Given the description of an element on the screen output the (x, y) to click on. 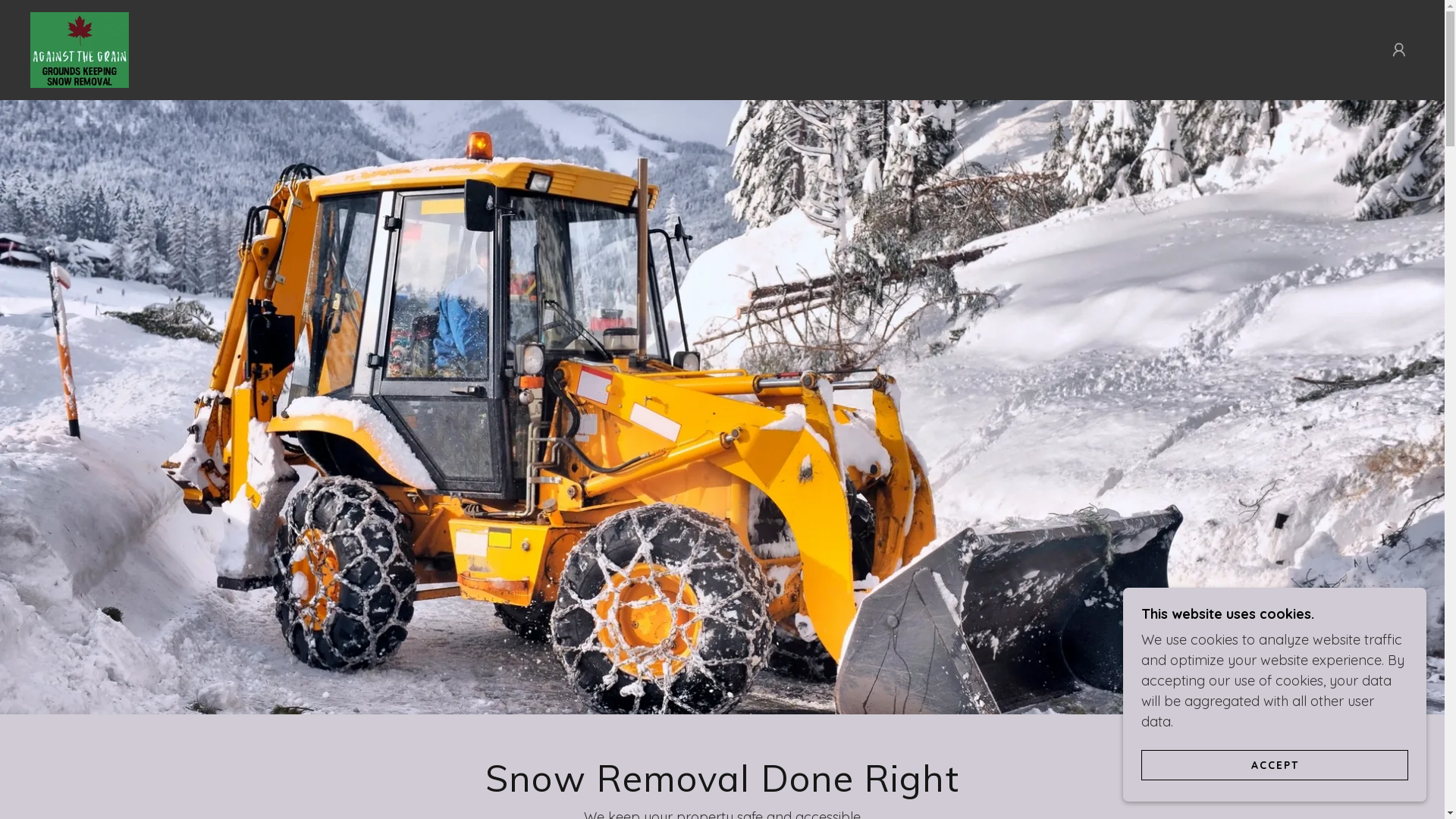
ACCEPT Element type: text (1274, 764)
Against The Grain Element type: hover (79, 48)
